Given the description of an element on the screen output the (x, y) to click on. 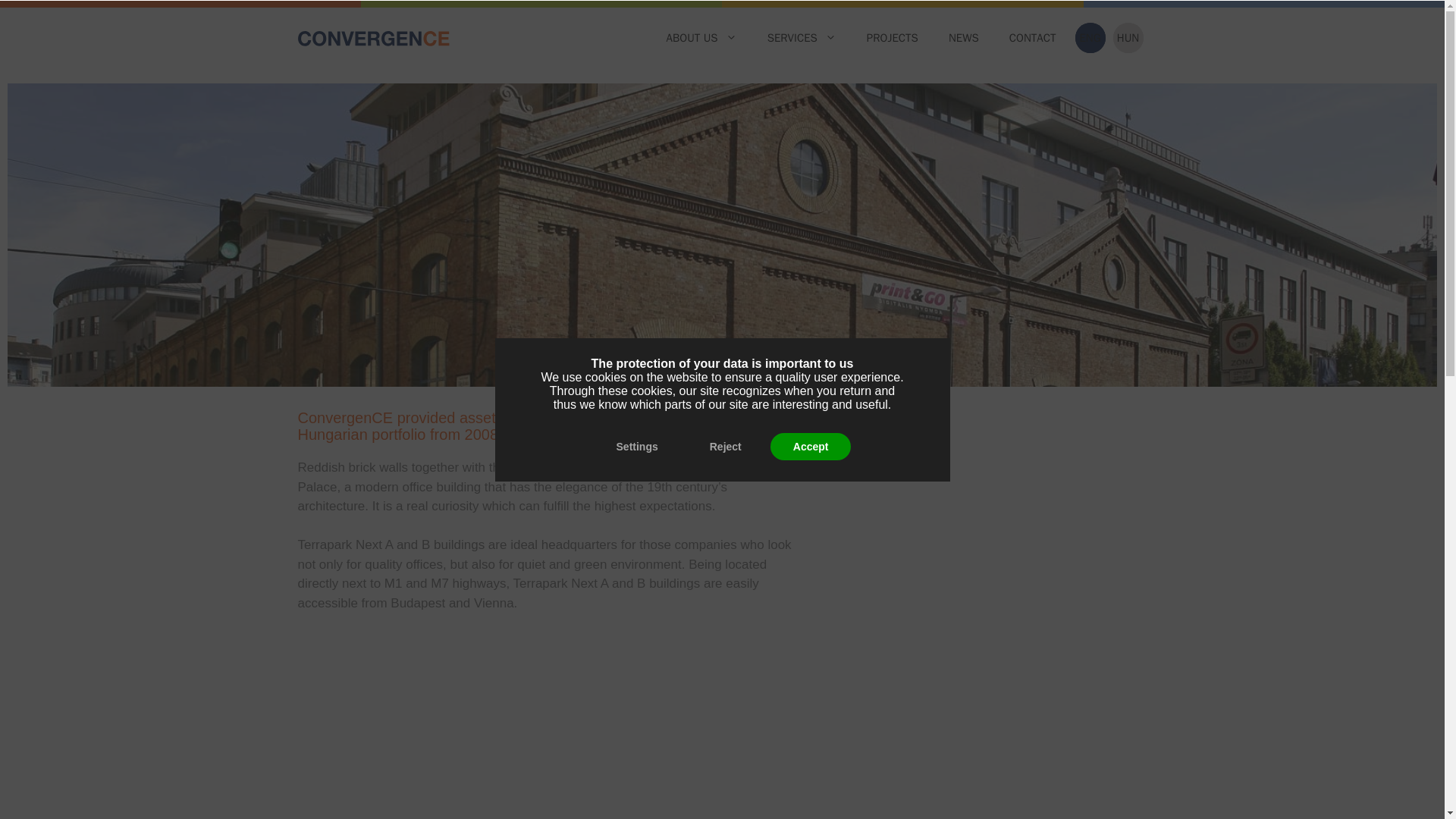
HUN (1127, 37)
Settings (637, 446)
Accept (810, 446)
SERVICES (801, 37)
NEWS (963, 37)
HUN (1127, 37)
CONTACT (1032, 37)
ABOUT US (701, 37)
ENG (1090, 37)
Reject (725, 446)
PROJECTS (892, 37)
ENG (1090, 37)
